Given the description of an element on the screen output the (x, y) to click on. 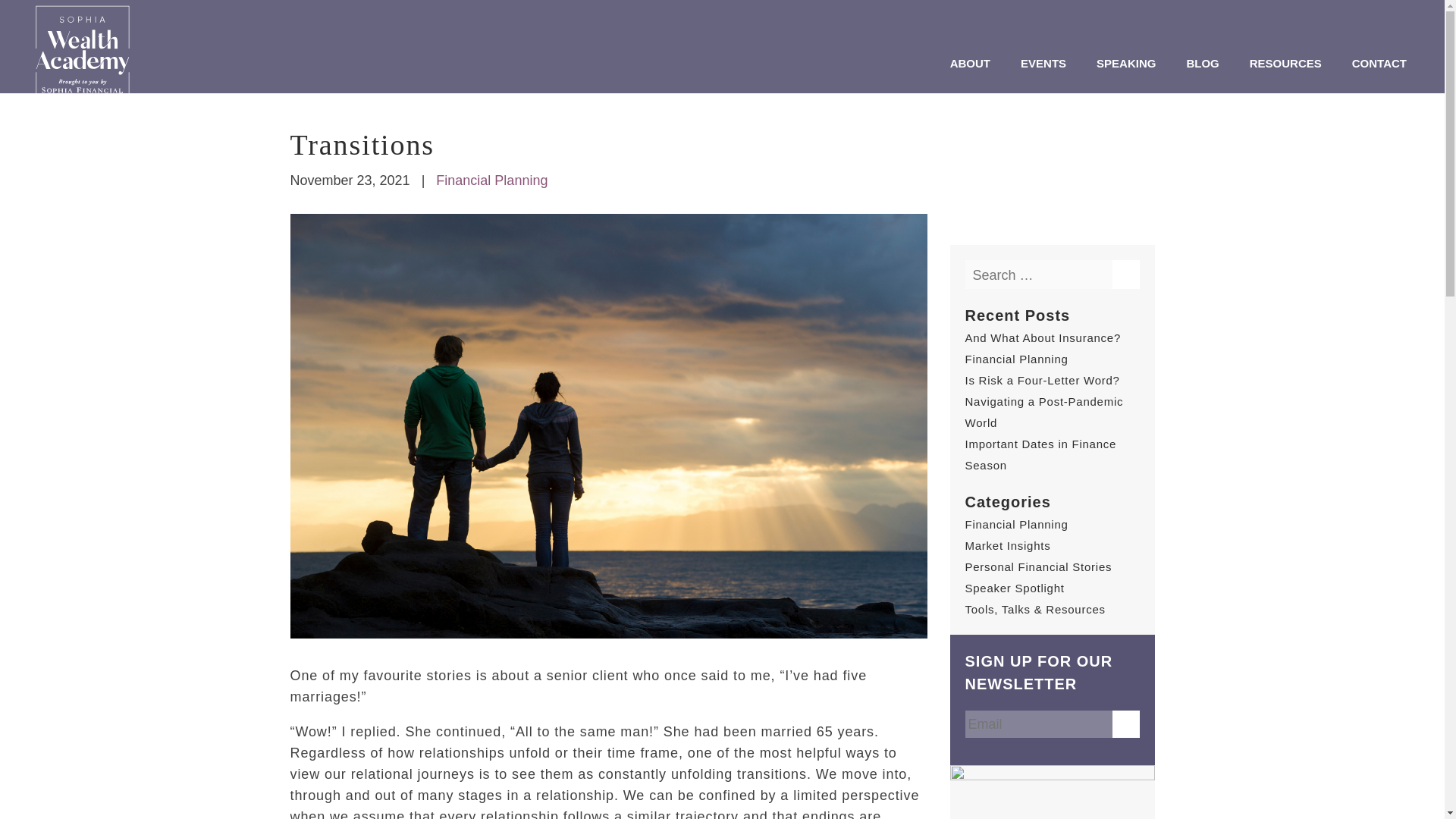
Important Dates in Finance Season (1039, 454)
CONTACT (1379, 63)
Is Risk a Four-Letter Word? (1041, 379)
And What About Insurance? (1042, 337)
Market Insights (1006, 545)
BLOG (1201, 63)
Financial Planning (491, 180)
SPEAKING (1125, 63)
Search (1125, 273)
ABOUT (970, 63)
